Given the description of an element on the screen output the (x, y) to click on. 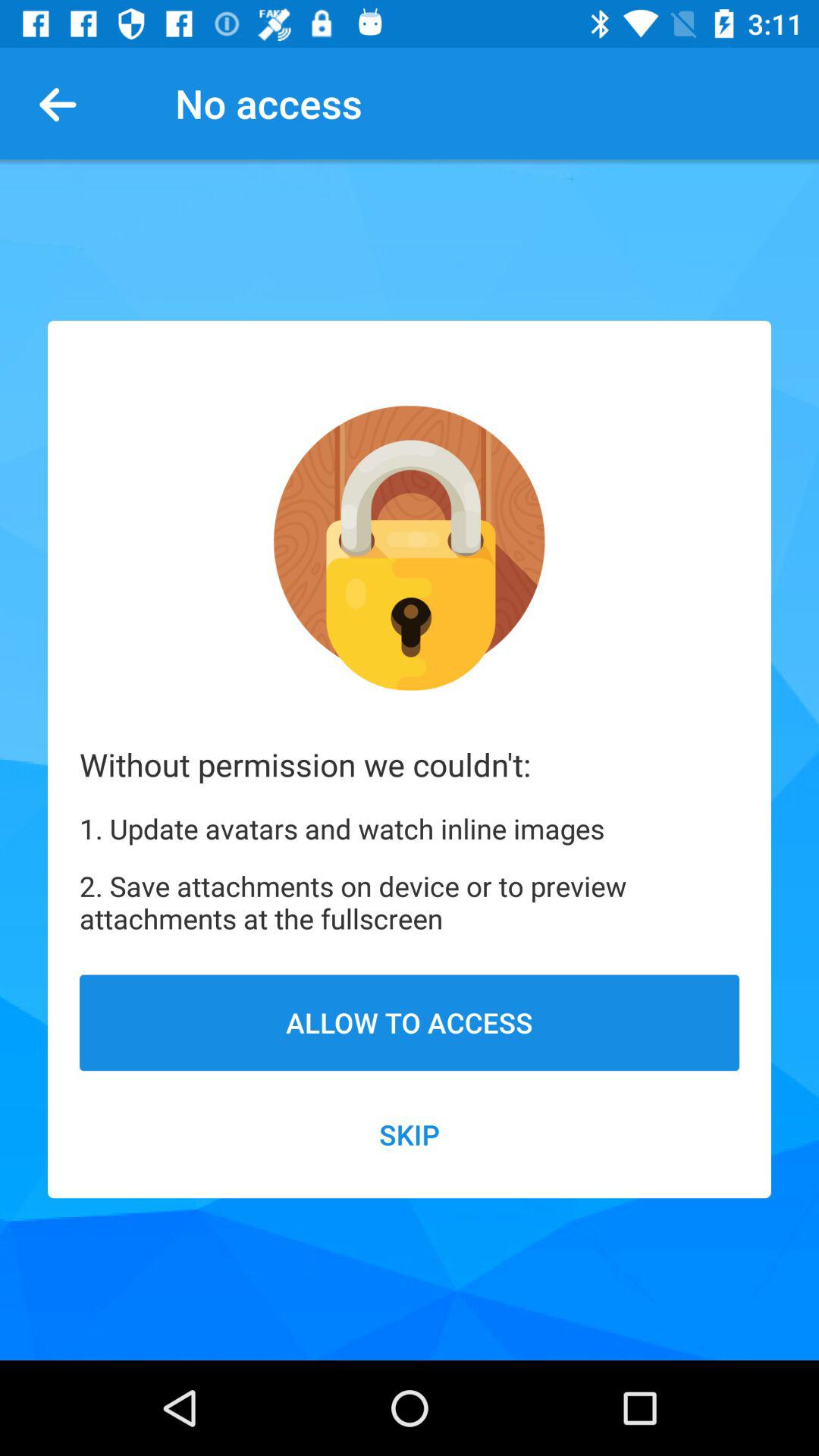
open the skip icon (409, 1134)
